Given the description of an element on the screen output the (x, y) to click on. 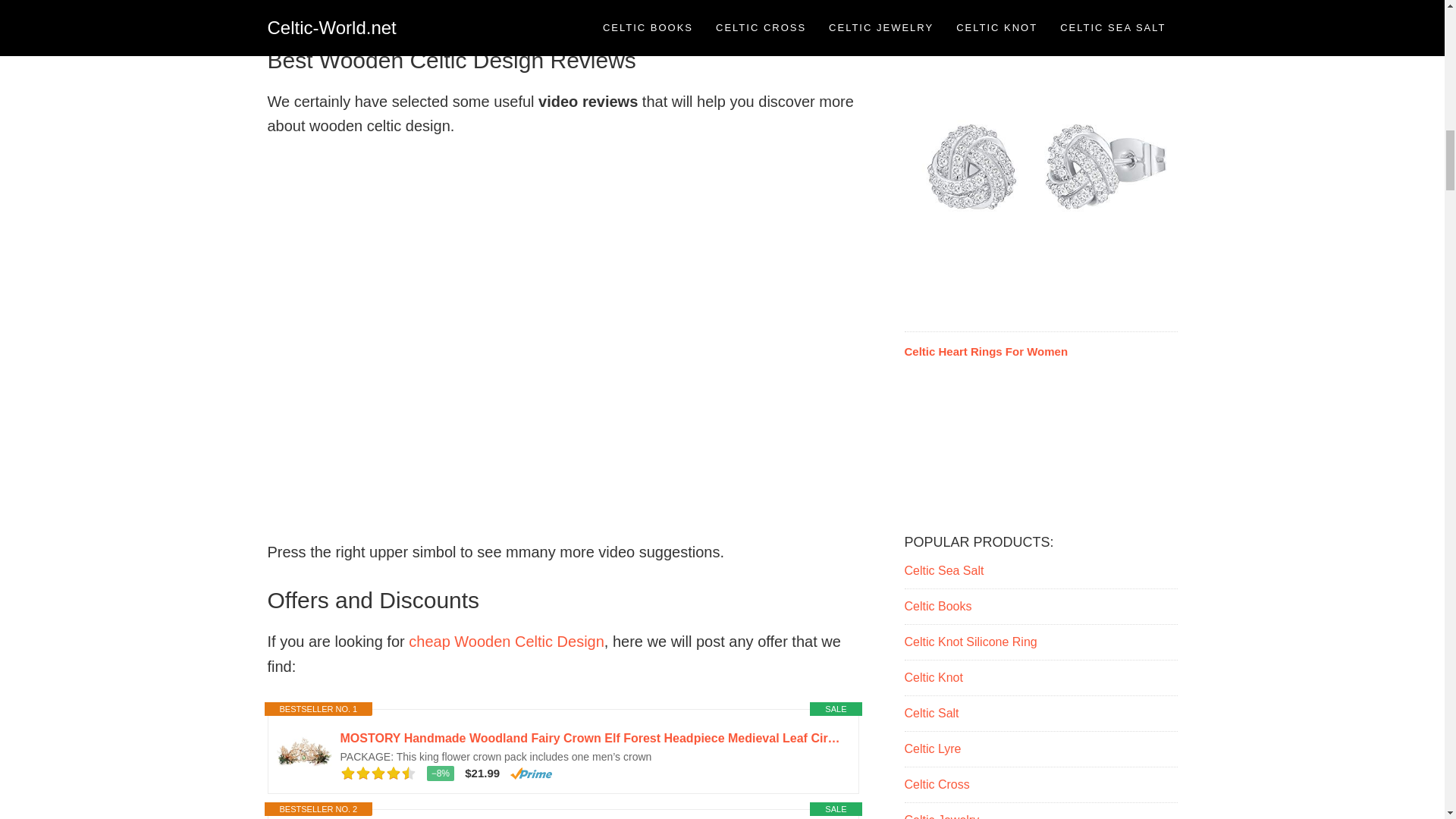
Amazon Prime (531, 773)
Reviews on Amazon (376, 773)
